Given the description of an element on the screen output the (x, y) to click on. 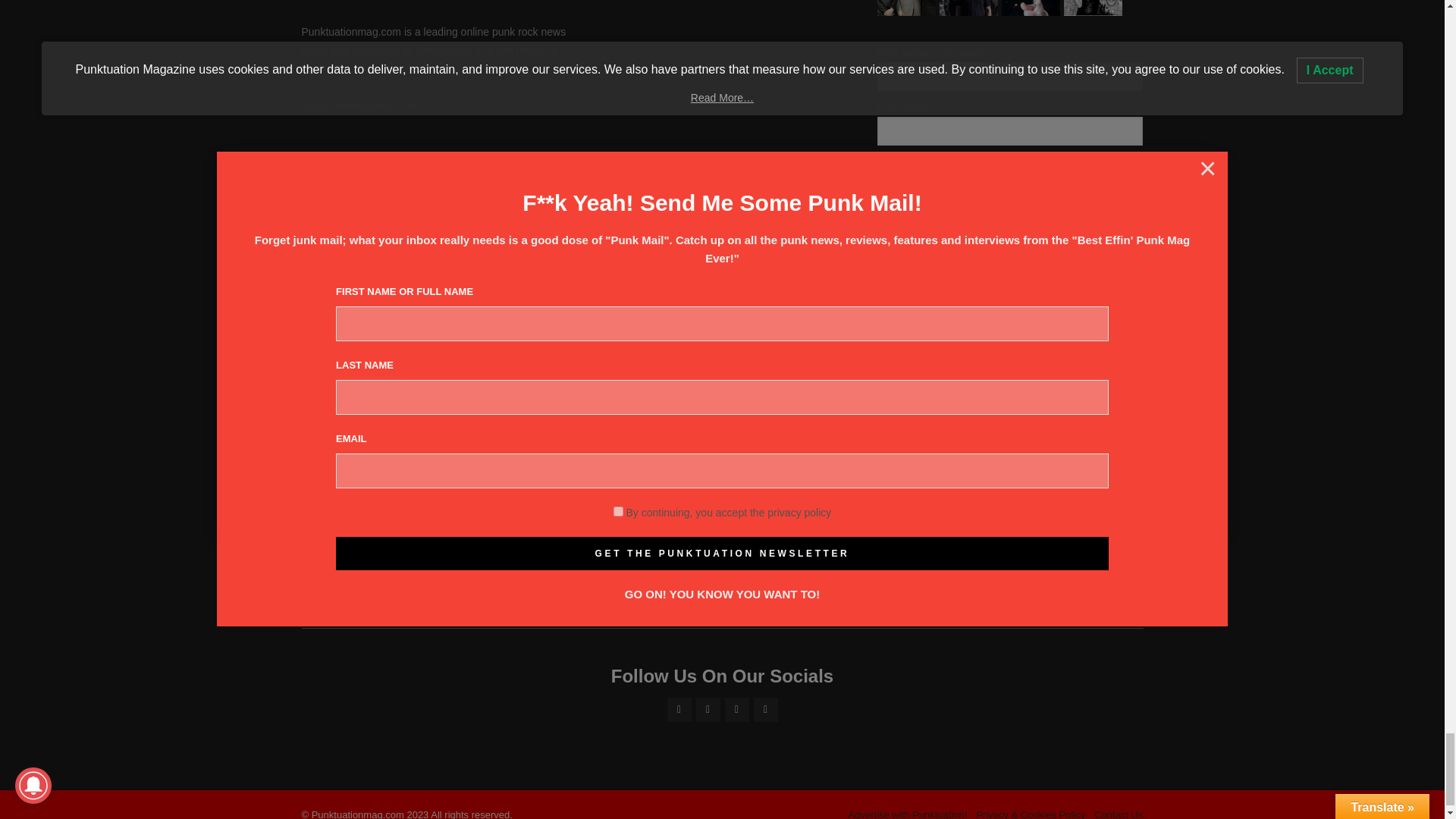
on (881, 270)
